Given the description of an element on the screen output the (x, y) to click on. 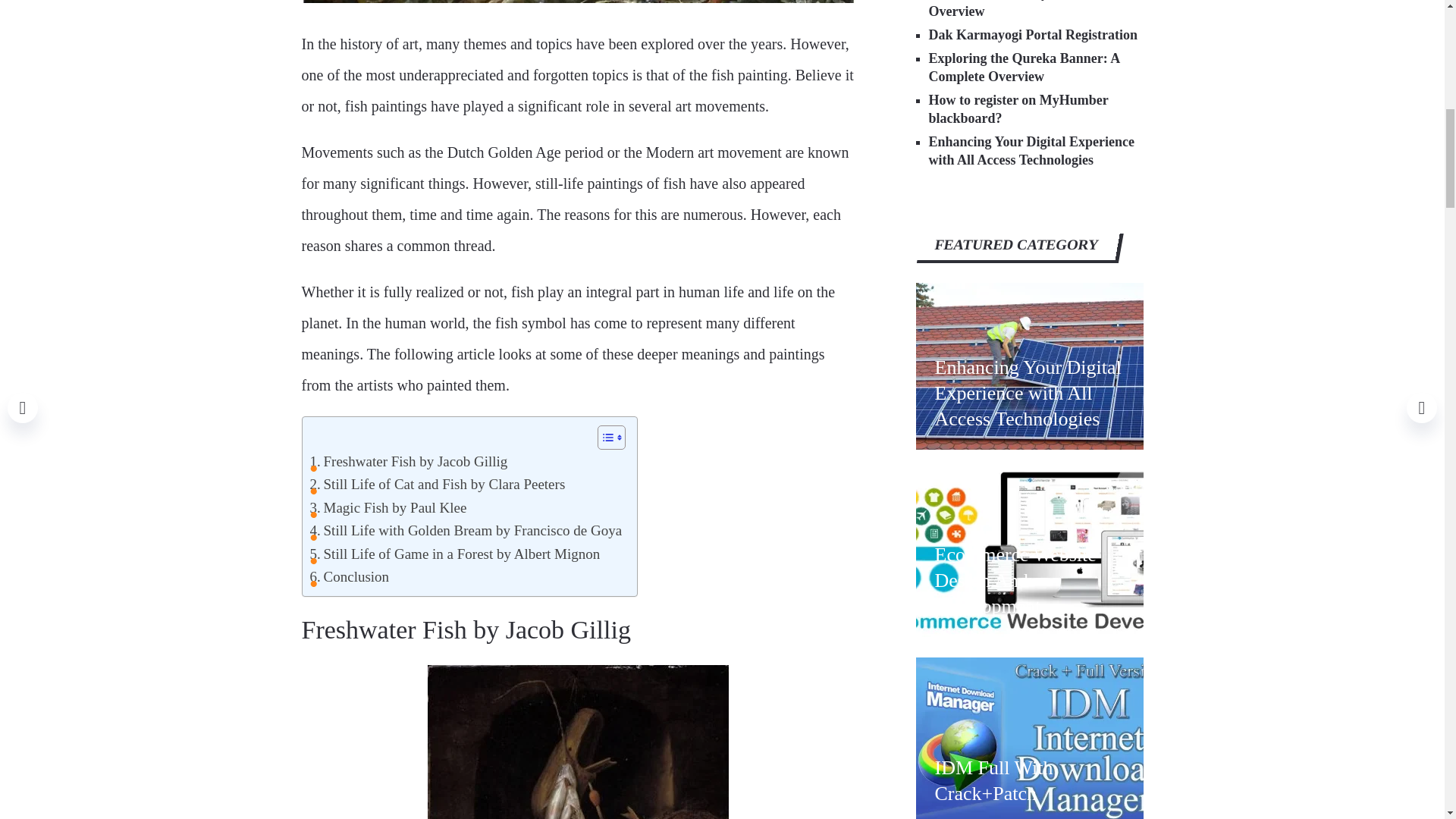
Conclusion (348, 576)
Magic Fish by Paul Klee (386, 507)
Still Life of Cat and Fish by Clara Peeters (436, 484)
Still Life with Golden Bream by Francisco de Goya (464, 530)
Still Life of Game in a Forest by Albert Mignon (453, 553)
Conclusion (348, 576)
Magic Fish by Paul Klee (386, 507)
Still Life of Game in a Forest by Albert Mignon (453, 553)
Freshwater Fish by Jacob Gillig (407, 461)
Freshwater Fish by Jacob Gillig (407, 461)
Still Life with Golden Bream by Francisco de Goya (464, 530)
Still Life of Cat and Fish by Clara Peeters (436, 484)
